Given the description of an element on the screen output the (x, y) to click on. 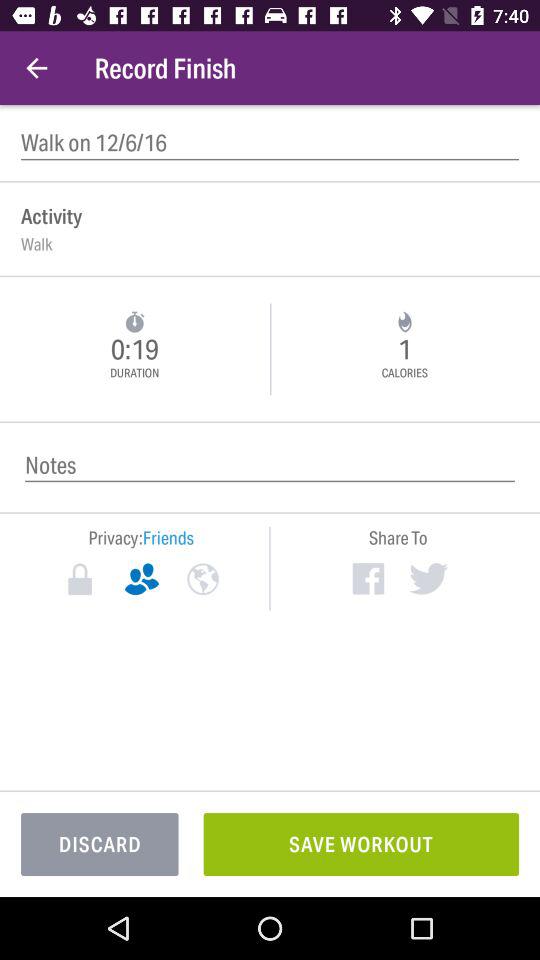
secure application (80, 579)
